Given the description of an element on the screen output the (x, y) to click on. 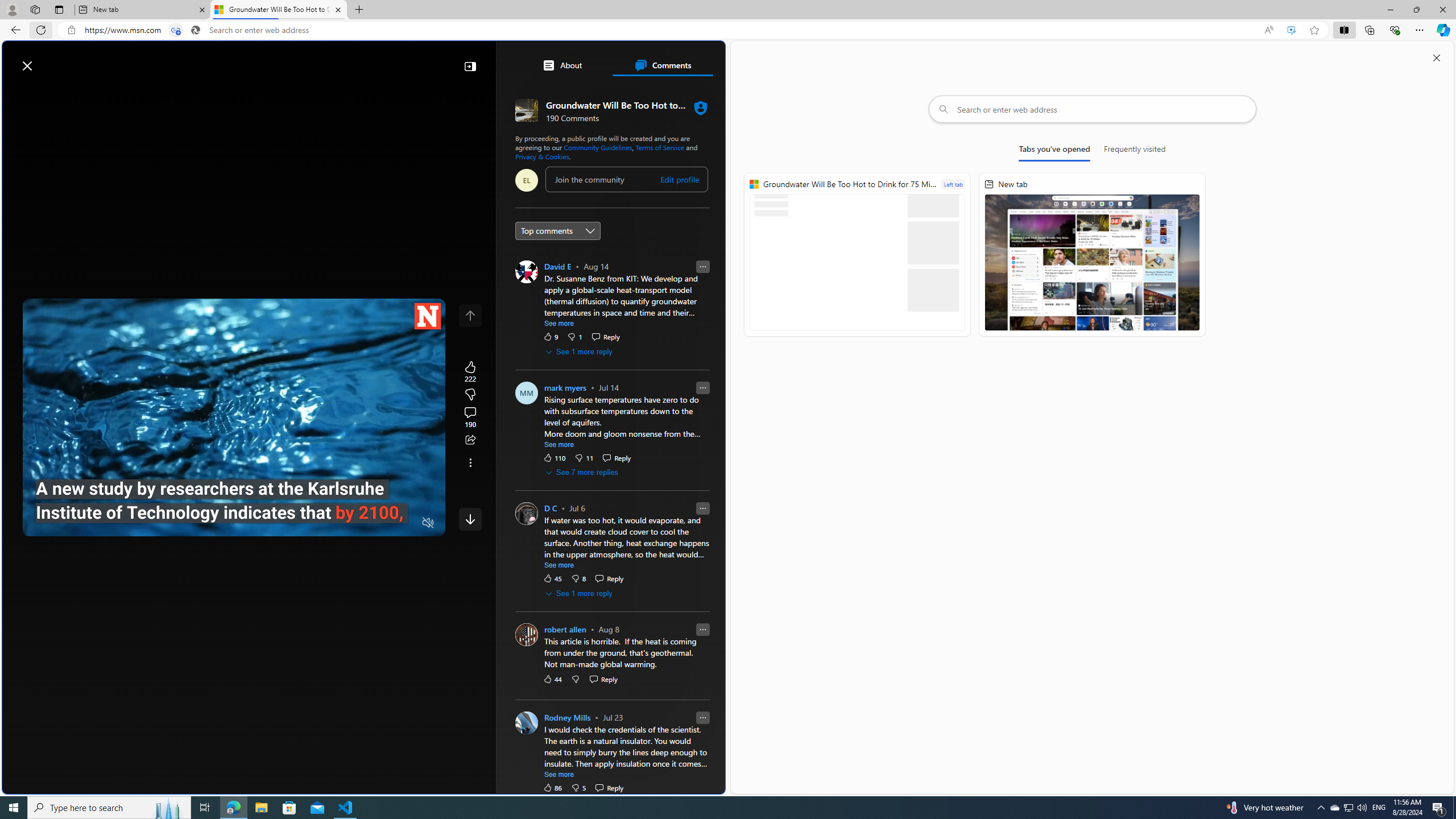
Class: control (469, 518)
The Associated Press (554, 366)
Share this story (469, 440)
Profile Picture (526, 722)
Enhance video (1291, 29)
